Given the description of an element on the screen output the (x, y) to click on. 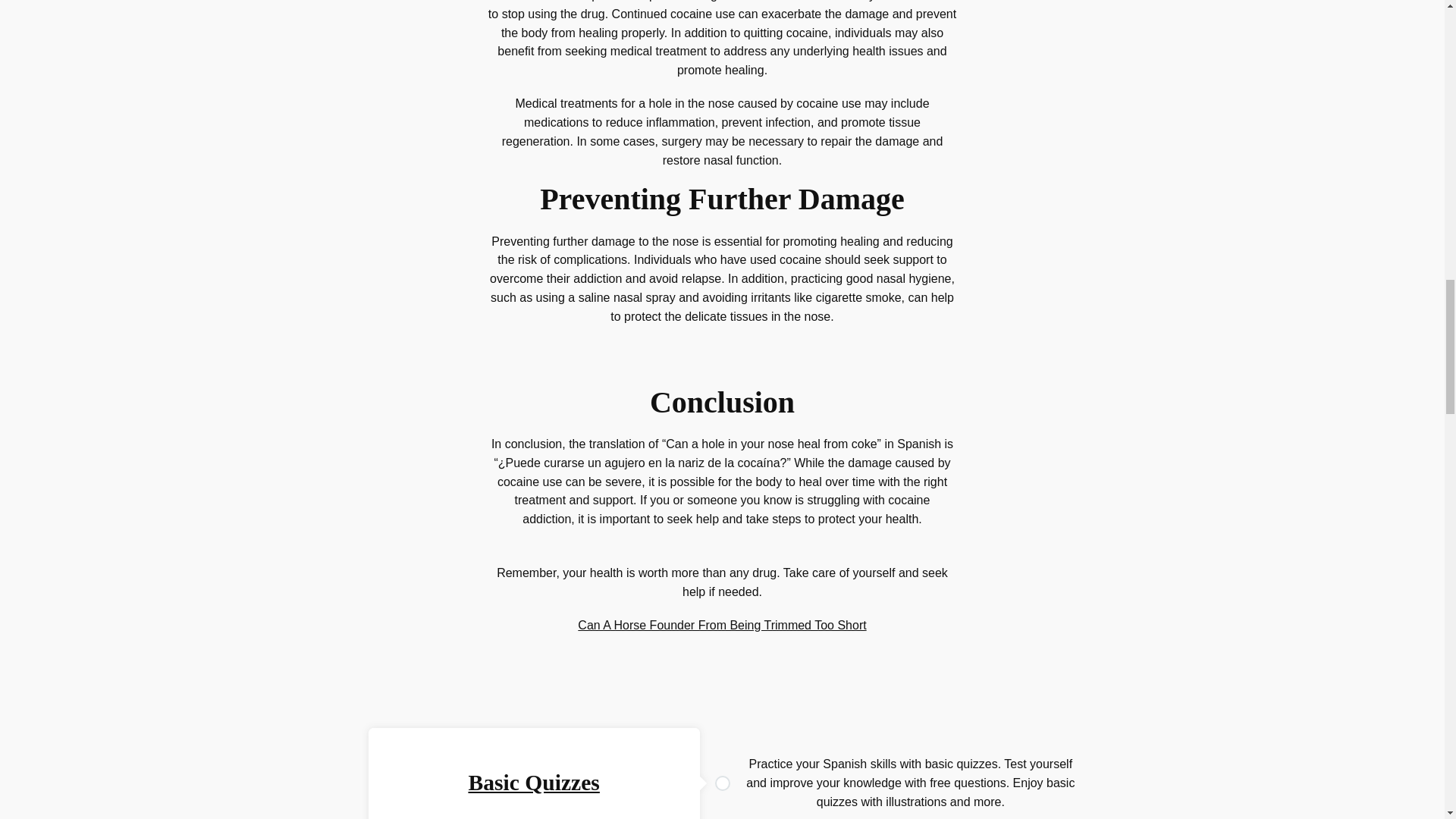
Basic Quizzes (532, 782)
Can A Horse Founder From Being Trimmed Too Short (722, 625)
